Given the description of an element on the screen output the (x, y) to click on. 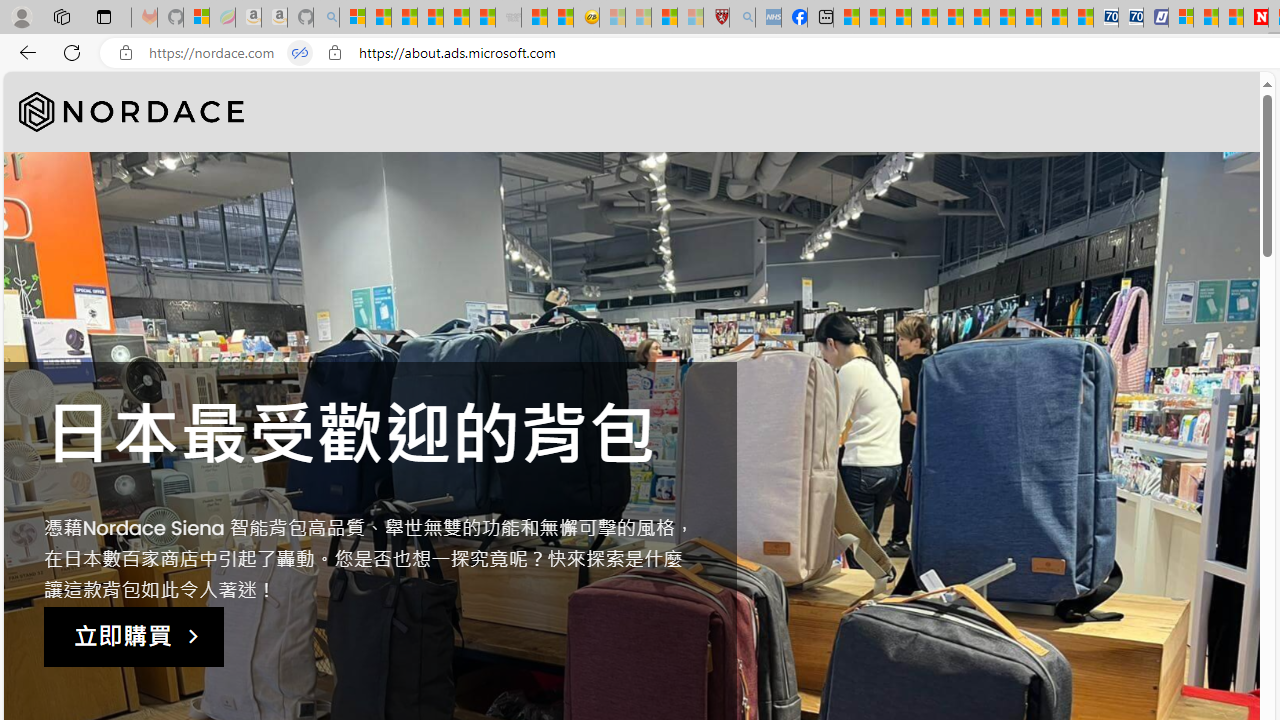
Newsweek - News, Analysis, Politics, Business, Technology (1256, 17)
Robert H. Shmerling, MD - Harvard Health (716, 17)
New Report Confirms 2023 Was Record Hot | Watch (456, 17)
Climate Damage Becomes Too Severe To Reverse (923, 17)
Cheap Hotels - Save70.com (1130, 17)
